Given the description of an element on the screen output the (x, y) to click on. 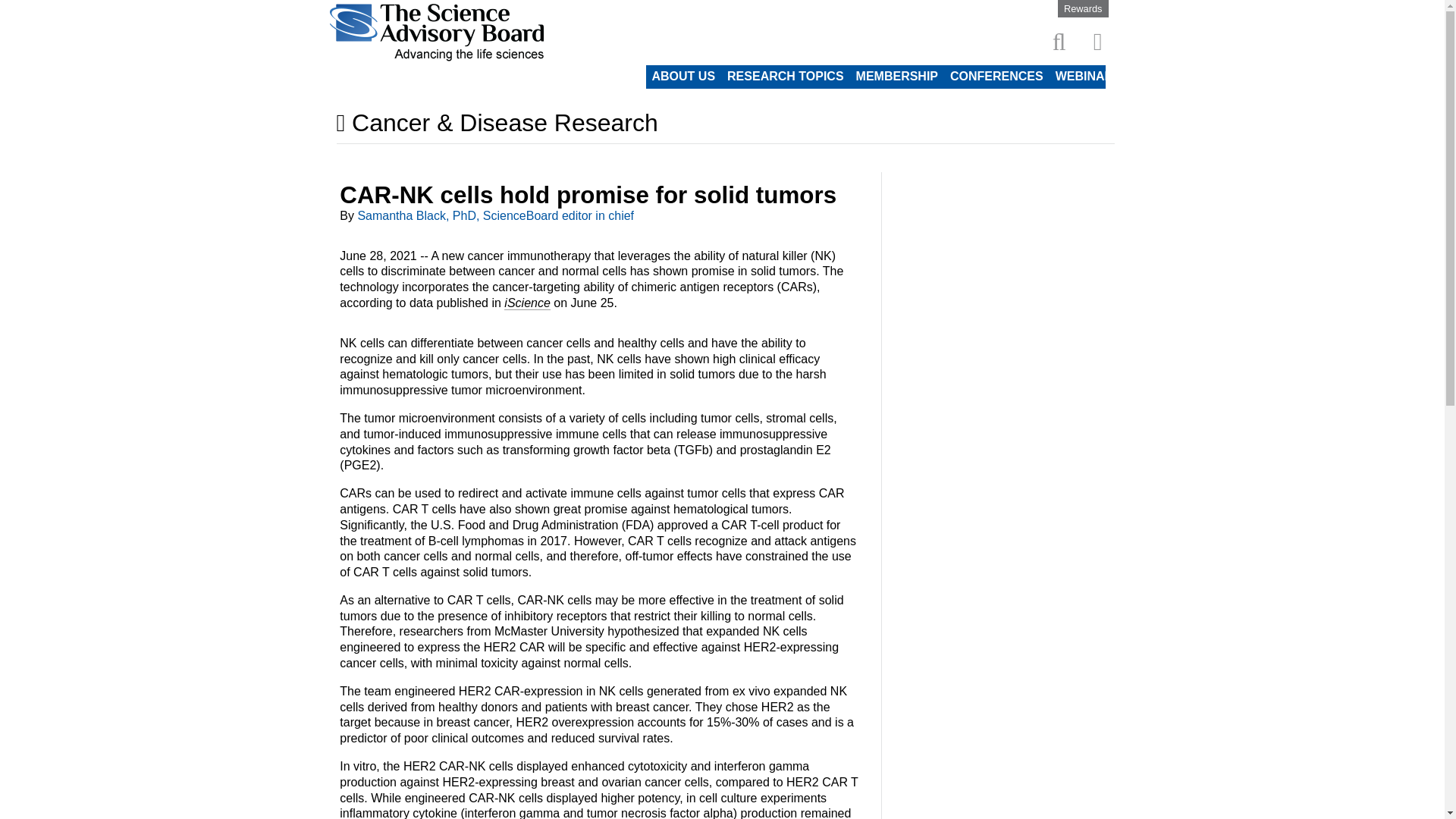
RESEARCH TOPICS (785, 76)
WEBINARS (1087, 76)
Samantha Black, PhD, ScienceBoard editor in chief (494, 215)
MEMBERSHIP (896, 76)
Rewards (1083, 8)
CAR-NK cells hold promise for solid tumors (587, 194)
CONFERENCES (996, 76)
iScience (526, 303)
ABOUT US (684, 76)
